Given the description of an element on the screen output the (x, y) to click on. 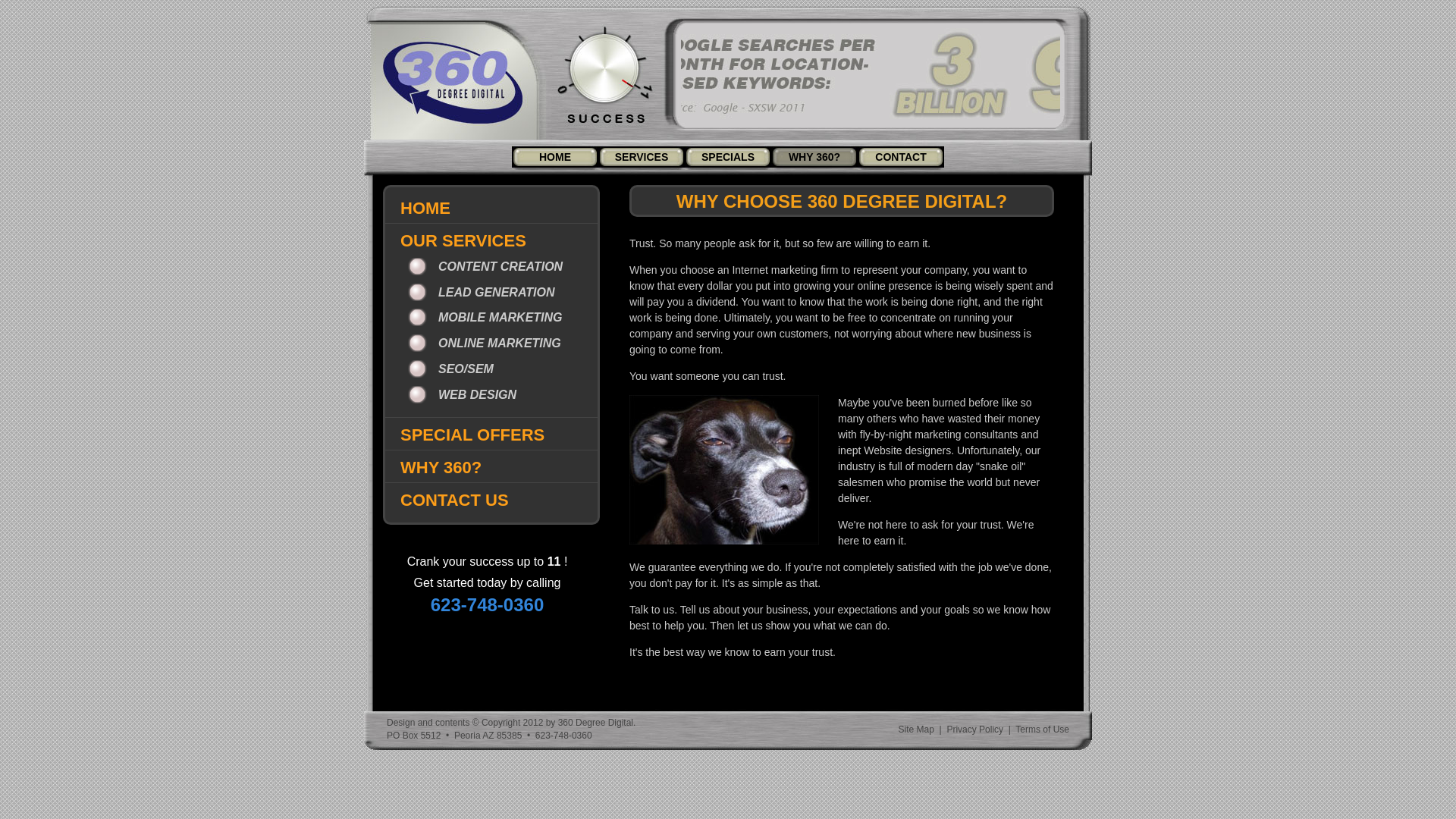
Terms of Use Element type: text (1042, 729)
CONTACT Element type: text (900, 156)
SERVICES Element type: text (641, 156)
ONLINE MARKETING  Element type: text (485, 342)
Site Map Element type: text (916, 729)
WHY 360? Element type: text (814, 156)
OUR SERVICES Element type: text (463, 240)
HOME Element type: text (425, 207)
WEB DESIGN  Element type: text (463, 394)
HOME Element type: text (555, 156)
SPECIALS Element type: text (727, 156)
SPECIAL OFFERS Element type: text (472, 434)
MOBILE MARKETING  Element type: text (486, 317)
Privacy Policy Element type: text (974, 729)
WHY 360? Element type: text (440, 467)
SEO/SEM  Element type: text (451, 368)
LEAD GENERATION  Element type: text (482, 292)
CONTACT US Element type: text (454, 499)
CONTENT CREATION  Element type: text (486, 266)
